Given the description of an element on the screen output the (x, y) to click on. 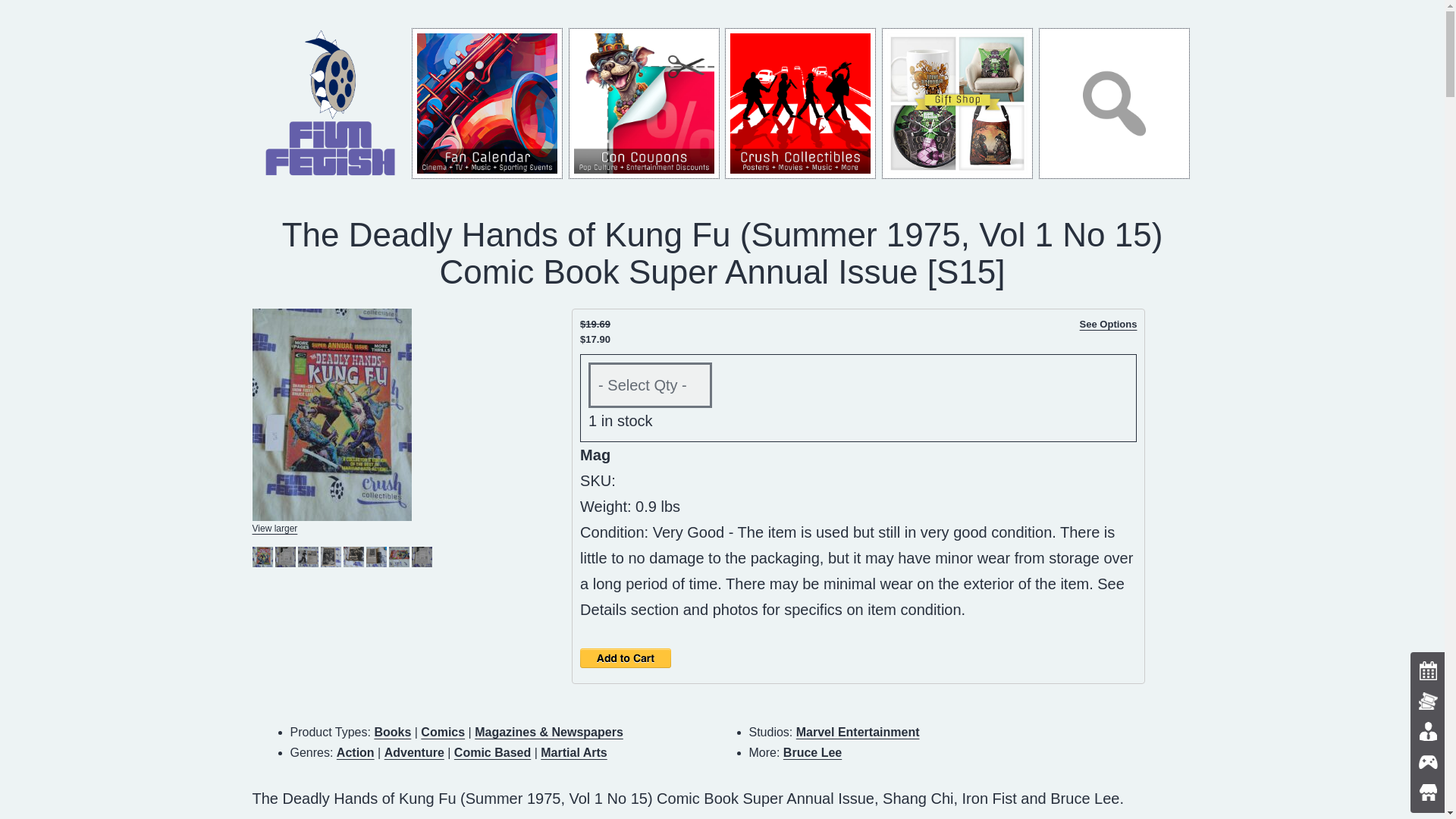
Adventure (414, 752)
Home (330, 102)
Search (1114, 103)
Martial Arts (573, 752)
Marvel Entertainment (858, 731)
Crush Collectibles (800, 103)
Film Fetish Home (330, 103)
Fan Calendar (487, 103)
Comic Based (492, 752)
Con Coupons (644, 103)
Film Fetish Official Shop (957, 103)
Bruce Lee (812, 752)
